Given the description of an element on the screen output the (x, y) to click on. 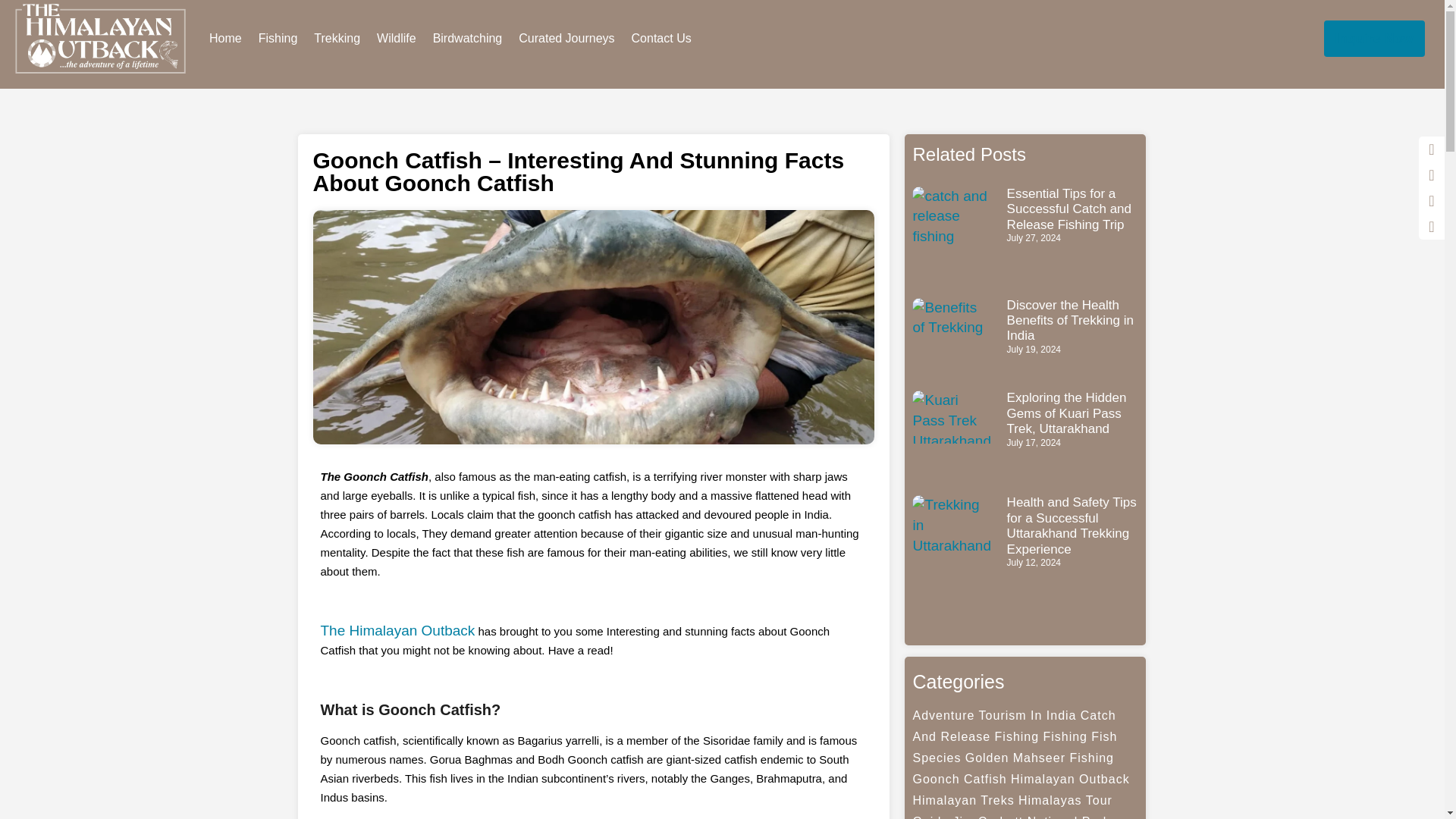
Fishing (277, 38)
Fishing (1064, 736)
Himalayan Outback (1069, 779)
Golden Mahseer Fishing (1039, 757)
Goonch Catfish (959, 779)
Catch And Release Fishing (1013, 725)
Home (225, 38)
Curated Journeys (567, 38)
Birdwatching (468, 38)
Fish Species (1014, 747)
The Himalayan Outback (397, 630)
Exploring the Hidden Gems of Kuari Pass Trek, Uttarakhand (1066, 412)
Discover the Health Benefits of Trekking in India (1070, 320)
